Given the description of an element on the screen output the (x, y) to click on. 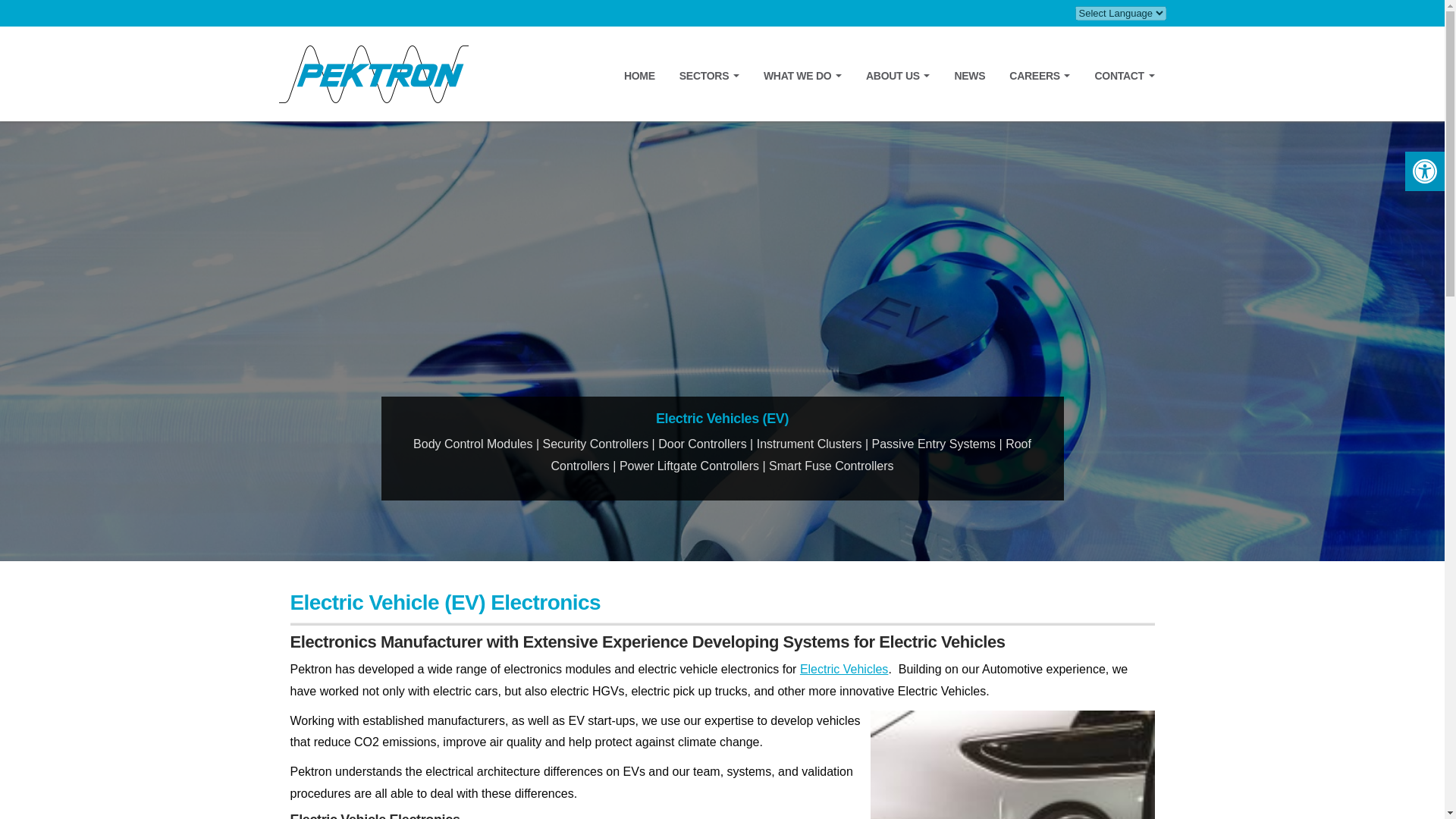
 HOME (638, 75)
CAREERS (1039, 75)
ABOUT US (897, 75)
SECTORS (709, 75)
Accessibility Tools (1424, 170)
WHAT WE DO (802, 75)
Sectors (709, 75)
What We Do (802, 75)
Home (638, 75)
NEWS (968, 75)
